Given the description of an element on the screen output the (x, y) to click on. 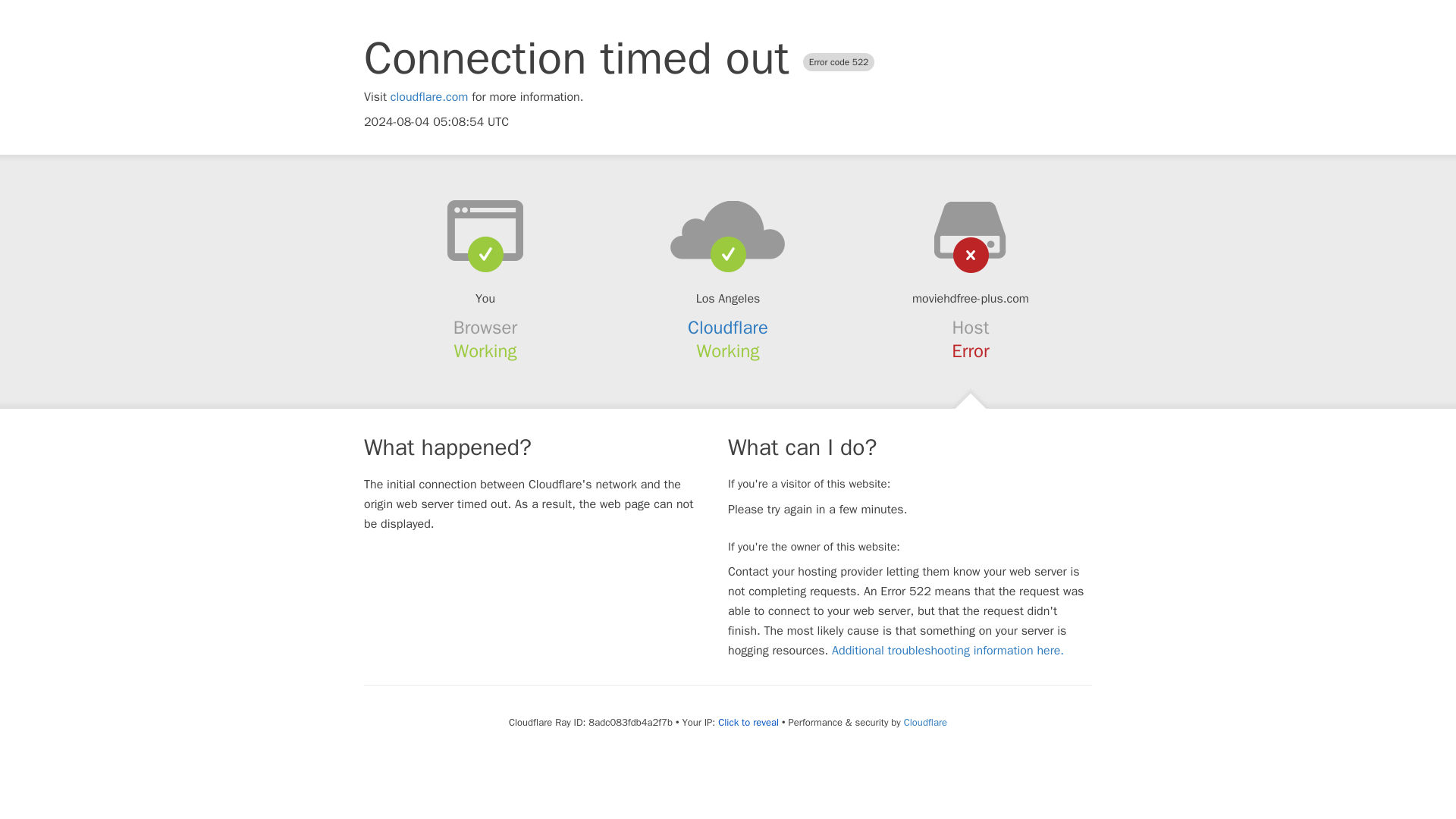
Cloudflare (727, 327)
Click to reveal (747, 722)
Additional troubleshooting information here. (947, 650)
Cloudflare (925, 721)
cloudflare.com (429, 96)
